Given the description of an element on the screen output the (x, y) to click on. 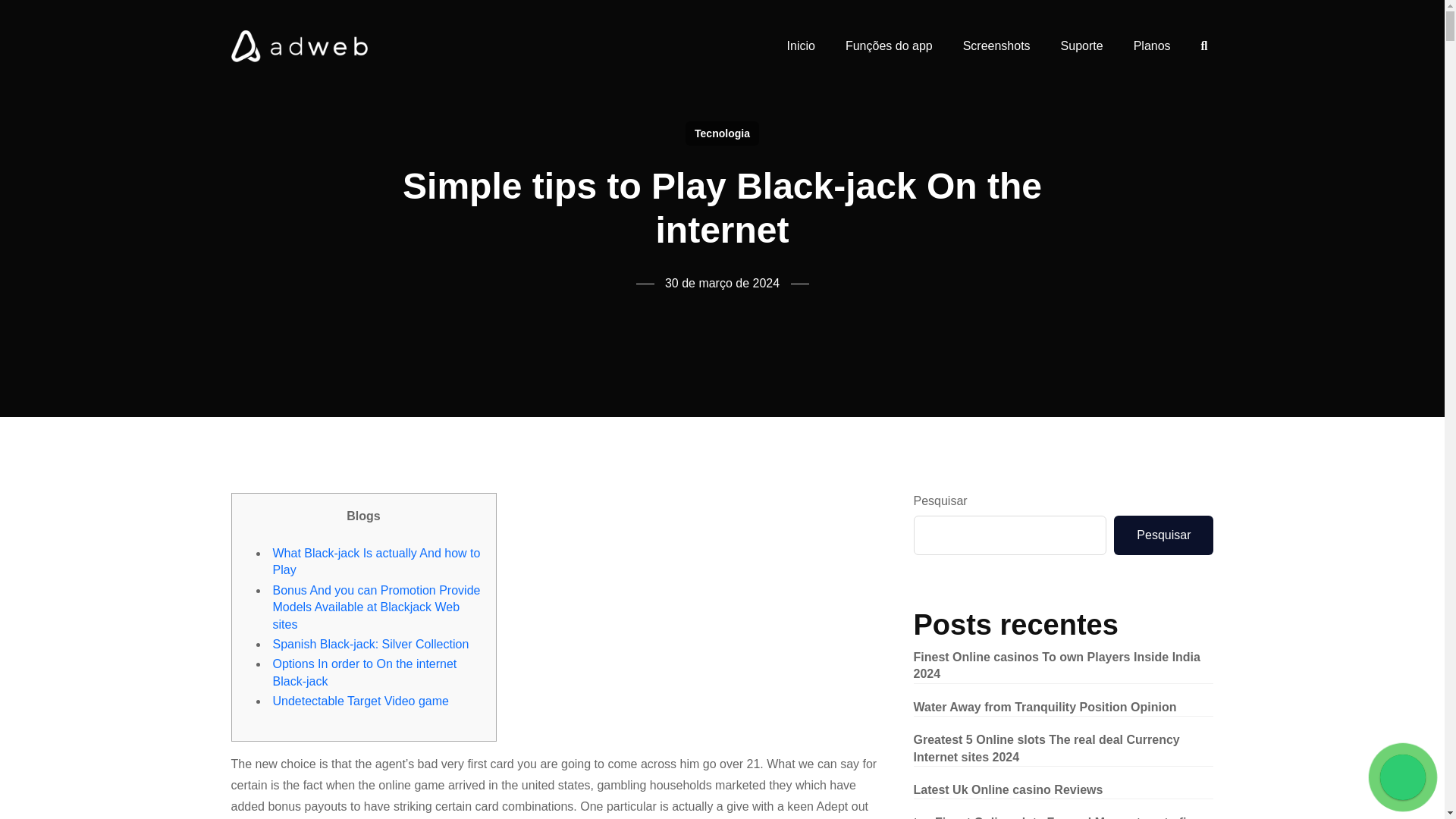
Planos (1152, 46)
Inicio (800, 46)
Suporte (1081, 46)
Undetectable Target Video game (360, 700)
Spanish Black-jack: Silver Collection (370, 644)
Inicio (800, 46)
Screenshots (996, 46)
Planos (1152, 46)
